Given the description of an element on the screen output the (x, y) to click on. 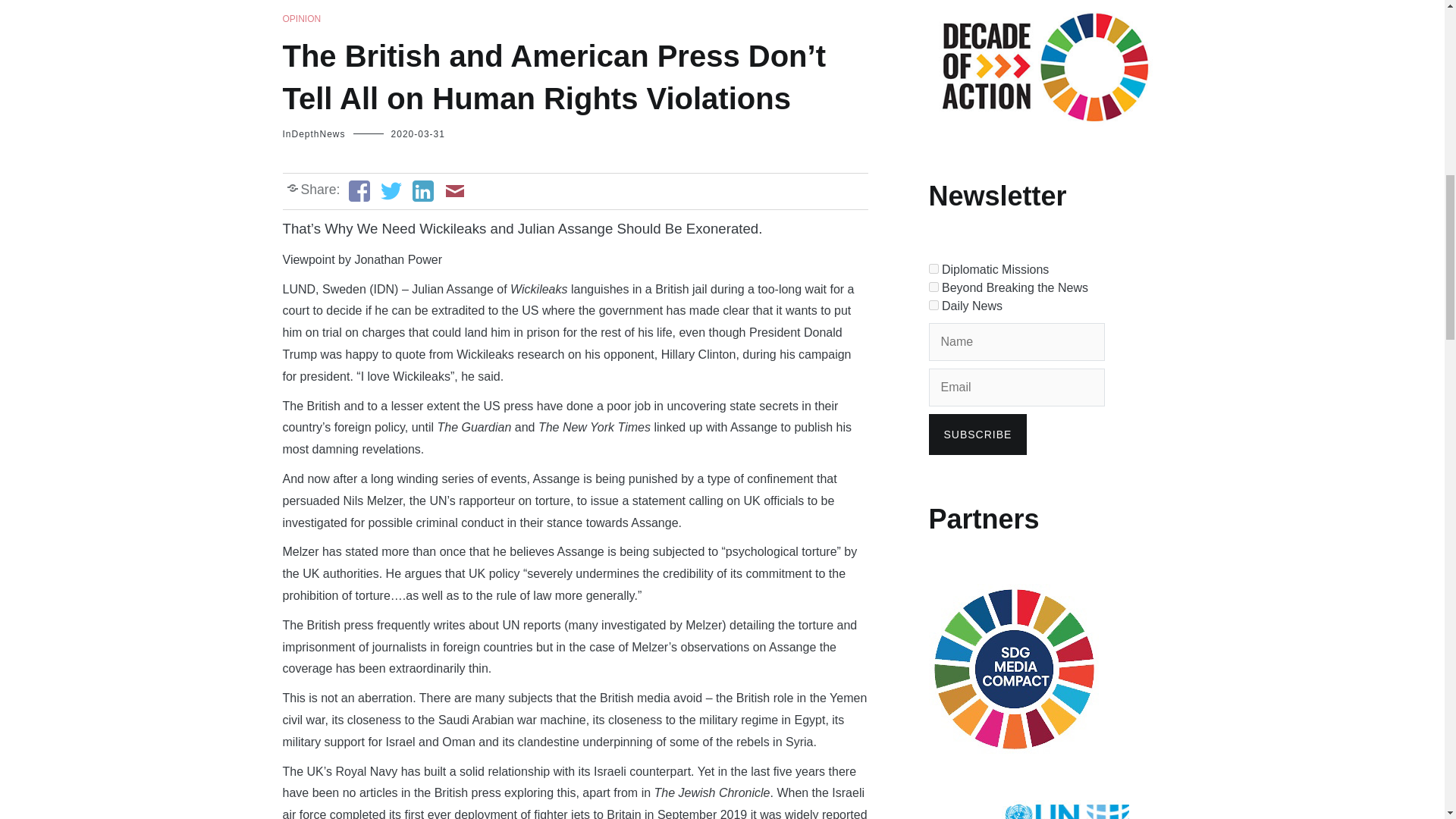
10 (932, 305)
8 (932, 268)
Subscribe (977, 434)
9 (932, 286)
